Given the description of an element on the screen output the (x, y) to click on. 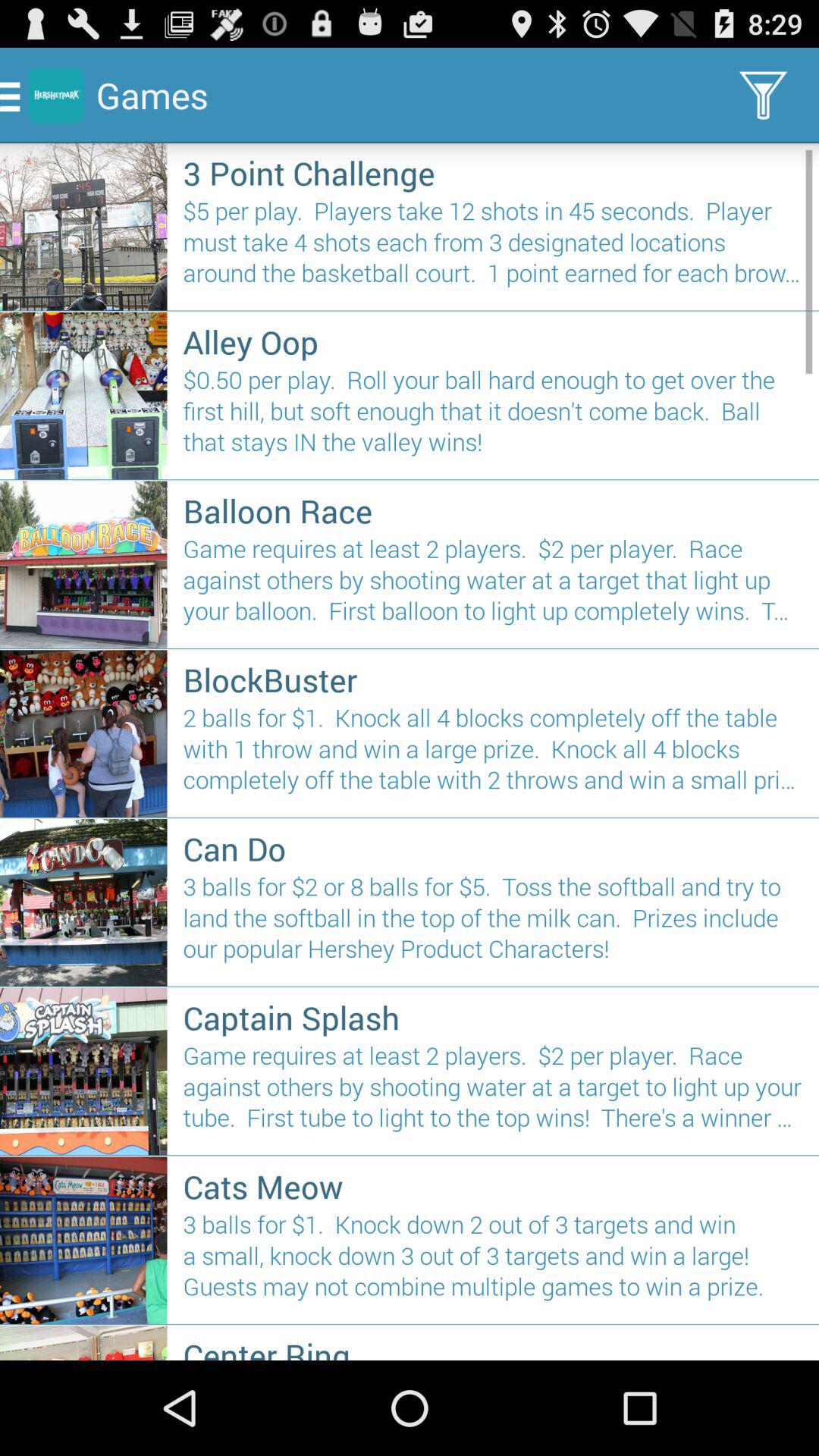
choose the icon above the 3 balls for icon (493, 848)
